Given the description of an element on the screen output the (x, y) to click on. 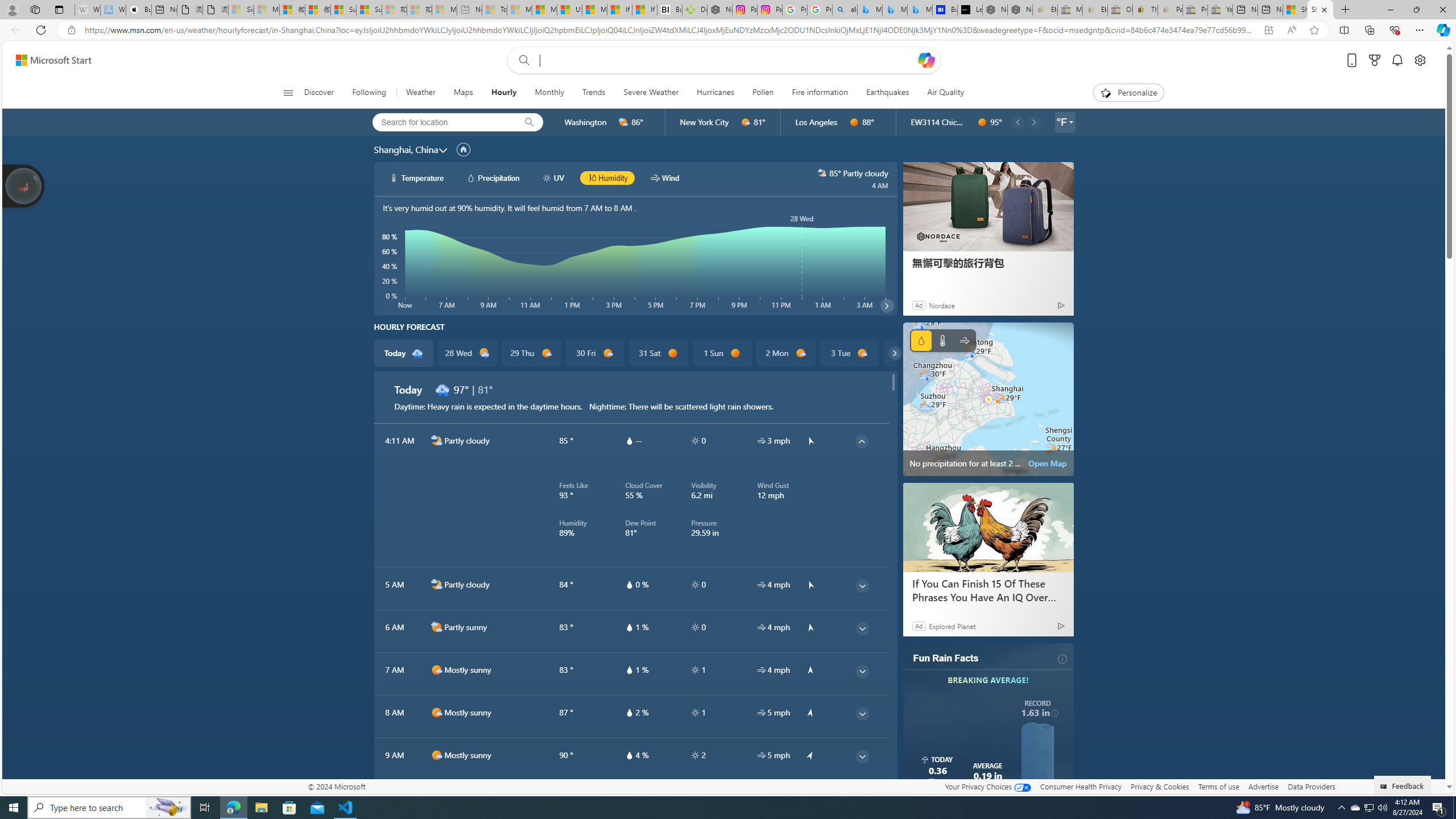
Microsoft account | Account Checkup - Sleeping (443, 9)
Open Map (1047, 463)
Shanghai, China (406, 149)
Temperature (942, 340)
d4300 (442, 389)
Hurricanes (715, 92)
Earthquakes (888, 92)
